Given the description of an element on the screen output the (x, y) to click on. 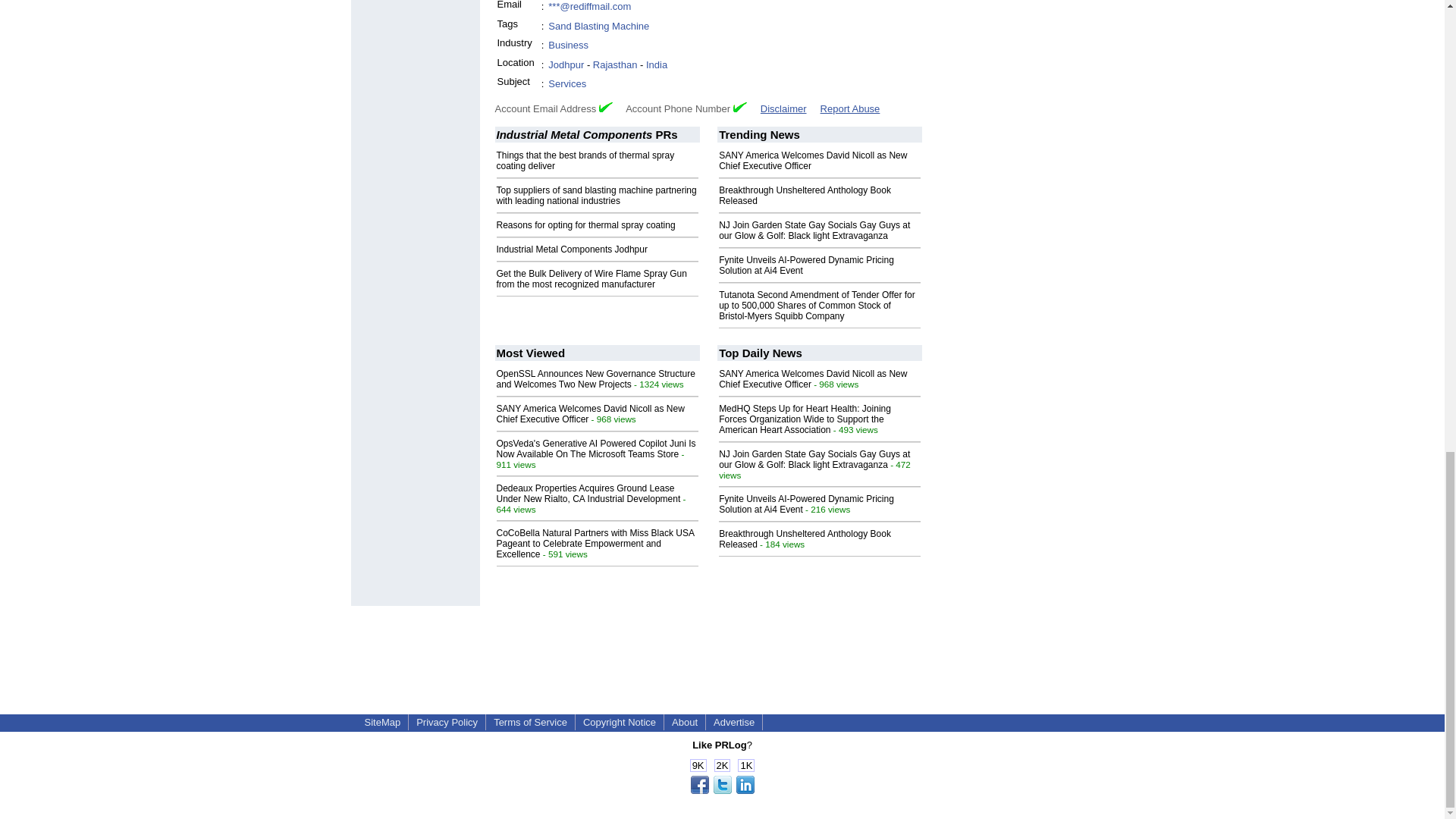
Verified (739, 107)
Share this page! (722, 790)
Verified (605, 107)
